Given the description of an element on the screen output the (x, y) to click on. 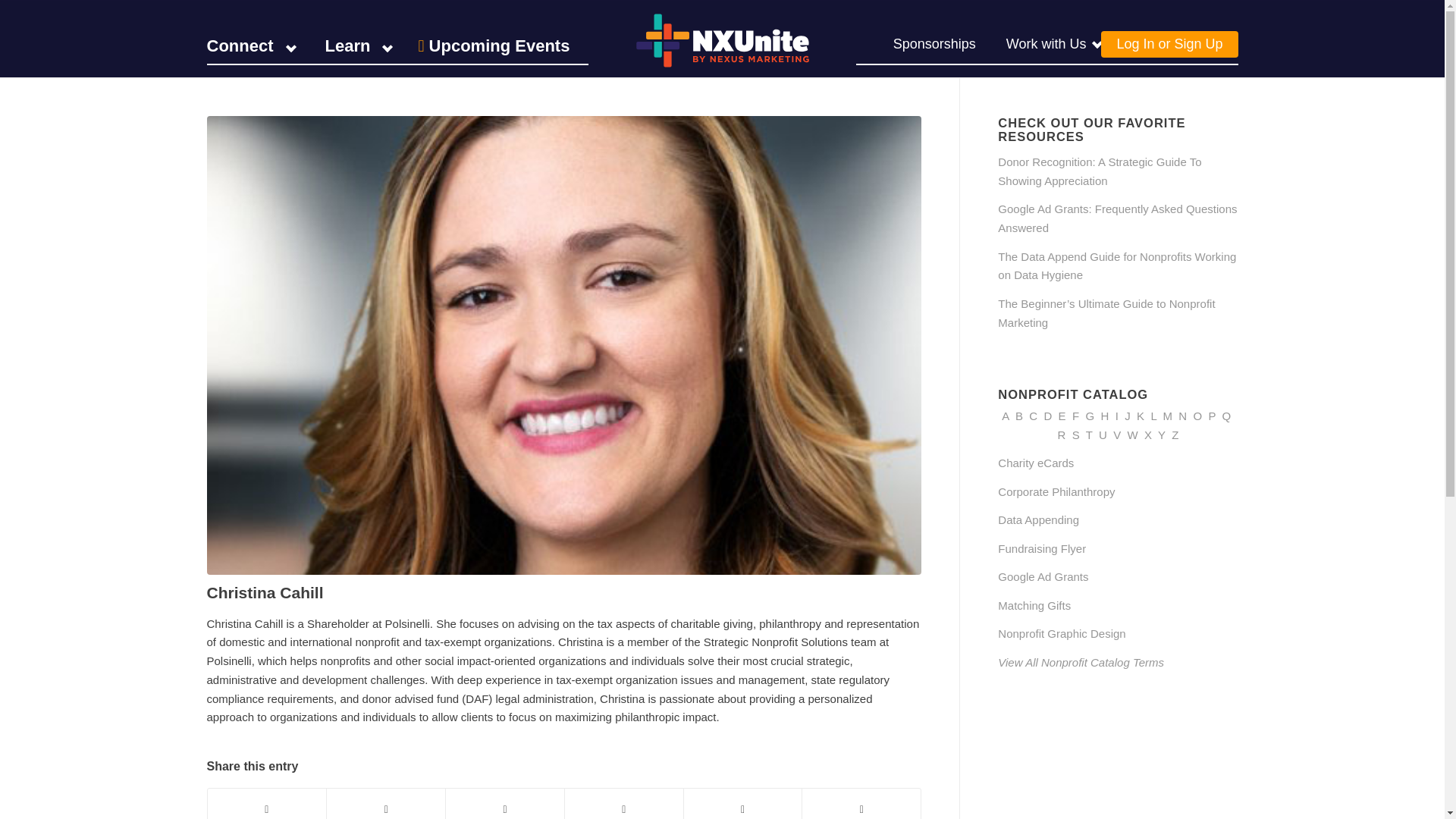
The Data Append Guide for Nonprofits Working on Data Hygiene (1116, 265)
Connect (250, 47)
Sponsorships (934, 47)
F (1074, 415)
E (1061, 415)
A (1005, 415)
Log In or Sign Up (1168, 43)
Learn (344, 47)
Donor Recognition: A Strategic Guide To Showing Appreciation (1099, 171)
Upcoming Events (491, 47)
G (1089, 415)
B (1018, 415)
C (1032, 415)
H (1104, 415)
